Given the description of an element on the screen output the (x, y) to click on. 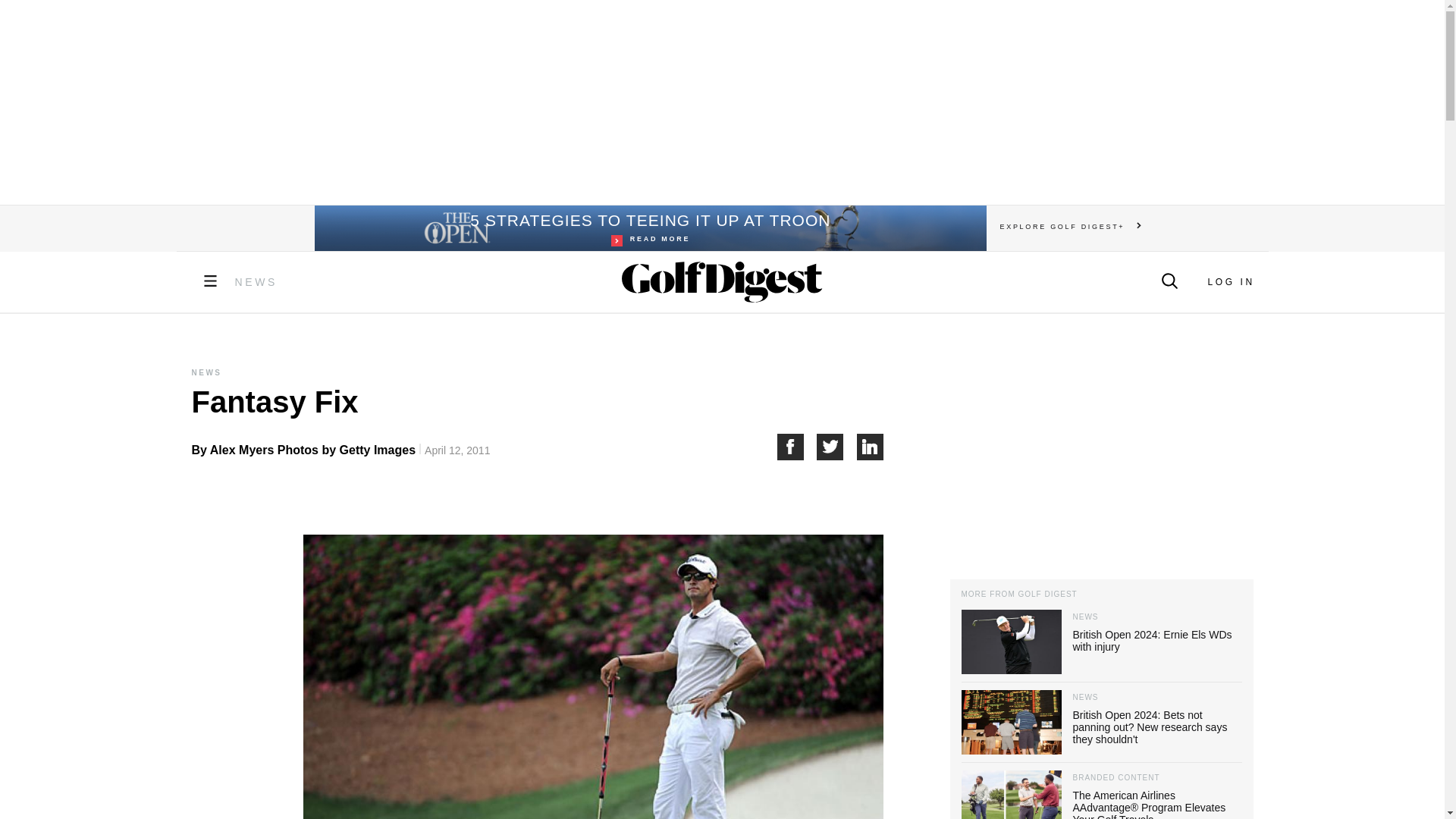
Share on Facebook (796, 447)
Share on Twitter (836, 447)
NEWS (256, 282)
LOG IN (649, 227)
3rd party ad content (1230, 281)
3rd party ad content (721, 101)
Share on LinkedIn (1100, 453)
